Given the description of an element on the screen output the (x, y) to click on. 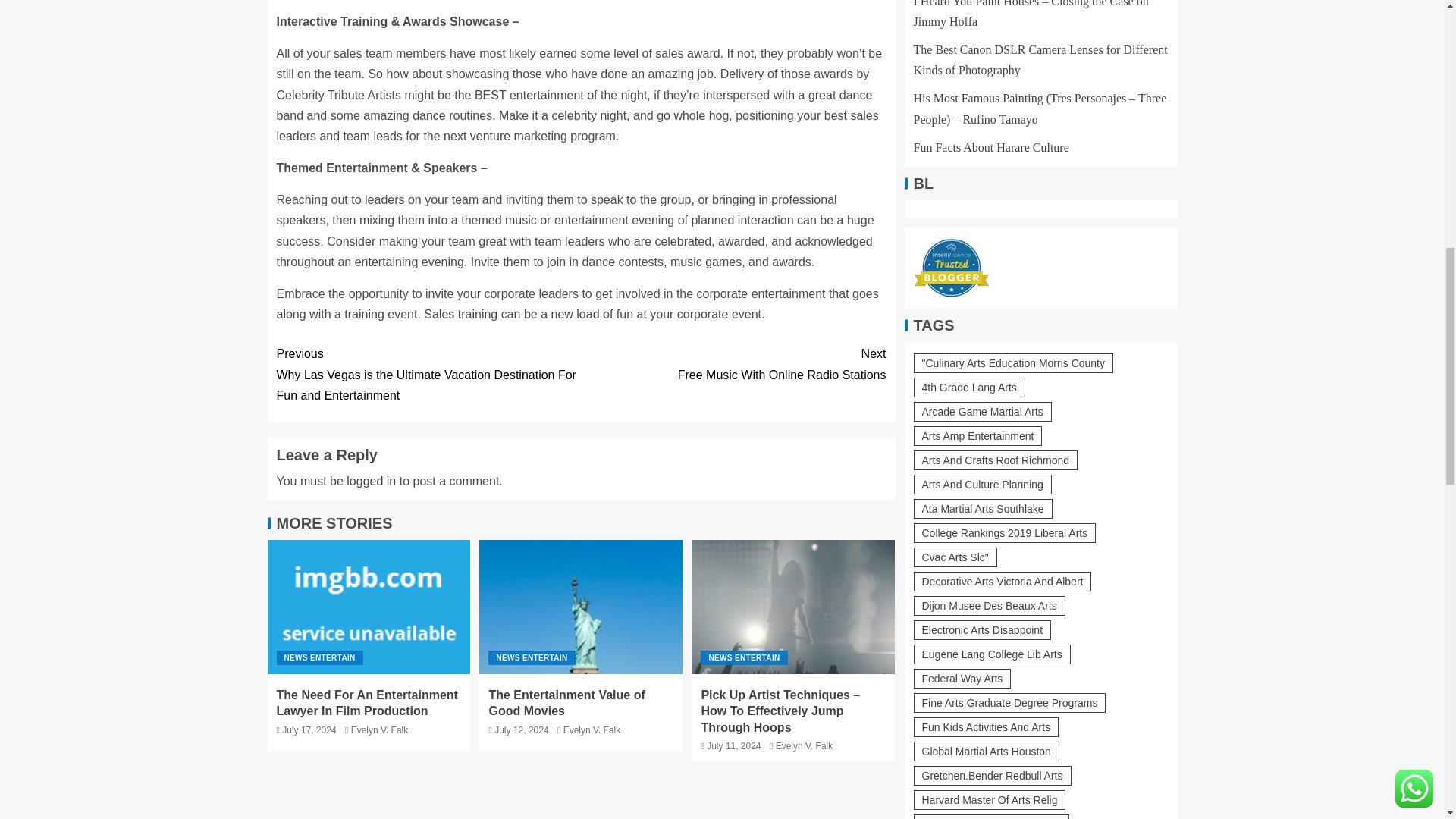
The Entertainment Value of Good Movies (566, 702)
Evelyn V. Falk (379, 729)
NEWS ENTERTAIN (743, 657)
The Entertainment Value of Good Movies (580, 606)
The Need For An Entertainment Lawyer In Film Production (366, 702)
NEWS ENTERTAIN (531, 657)
Evelyn V. Falk (804, 746)
logged in (371, 481)
Evelyn V. Falk (592, 729)
NEWS ENTERTAIN (732, 363)
